Given the description of an element on the screen output the (x, y) to click on. 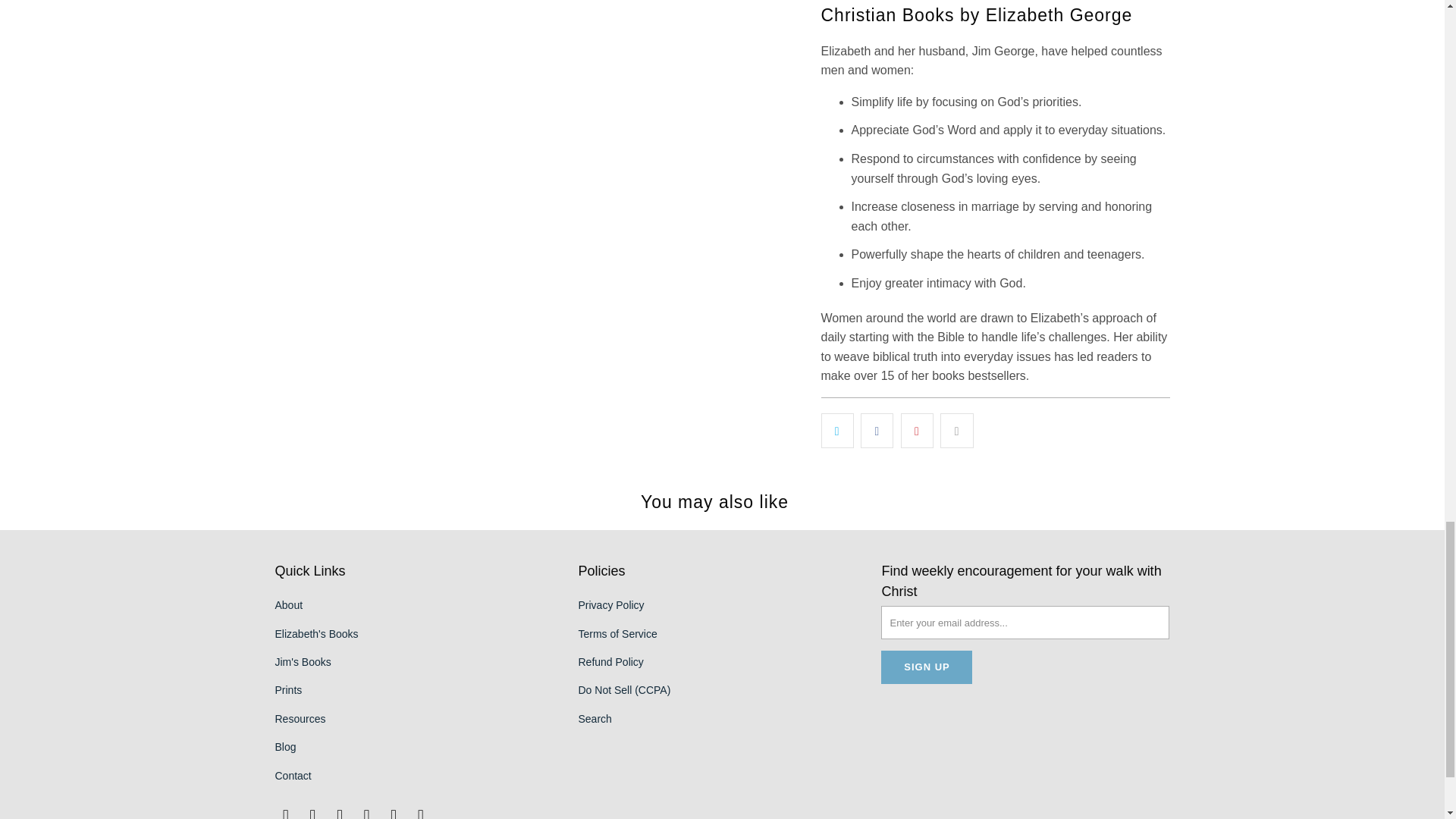
Share this on Twitter (837, 430)
Sign Up (926, 666)
Share this on Facebook (876, 430)
